Given the description of an element on the screen output the (x, y) to click on. 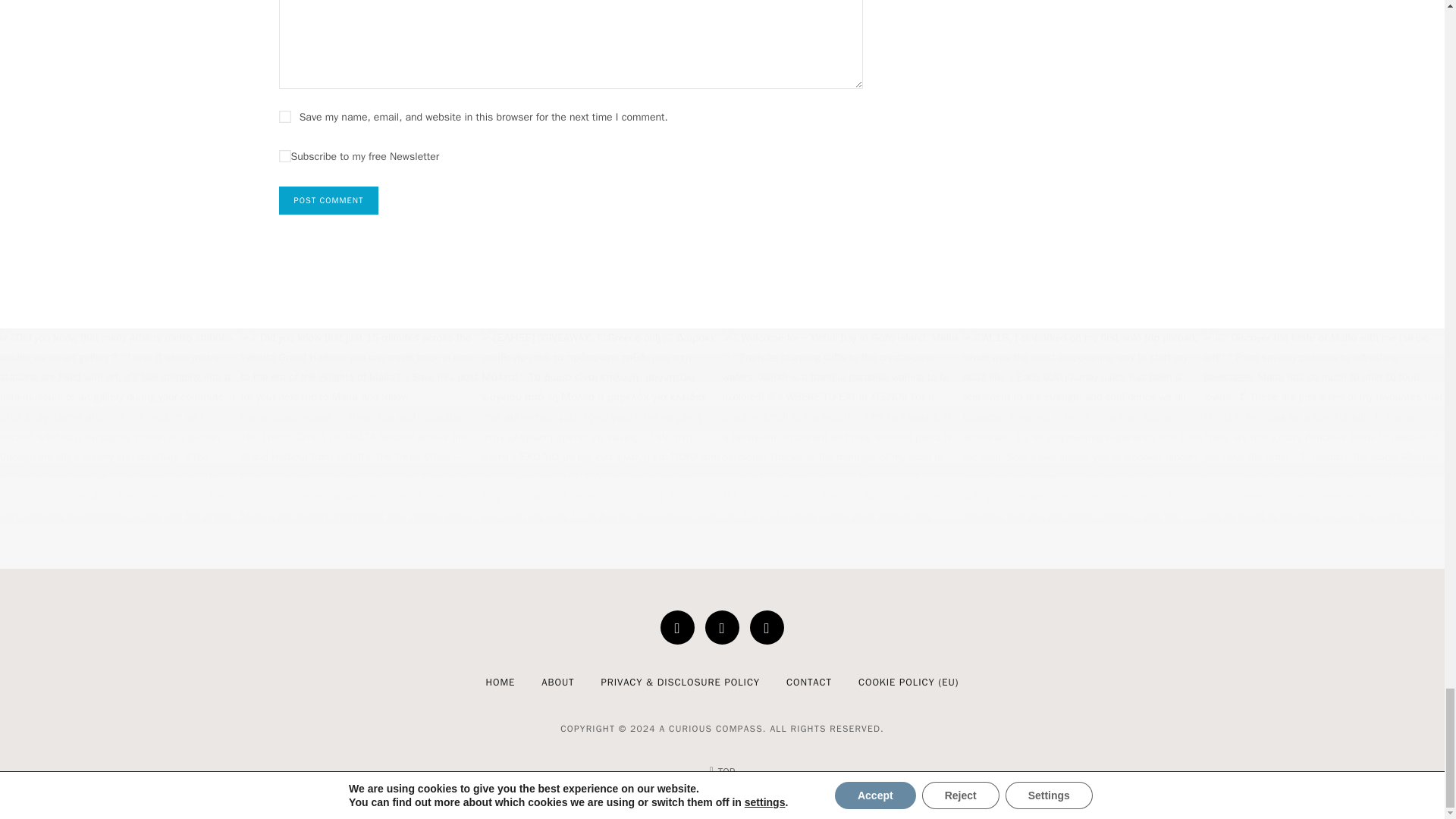
Post Comment (328, 200)
1 (285, 155)
yes (285, 116)
